Given the description of an element on the screen output the (x, y) to click on. 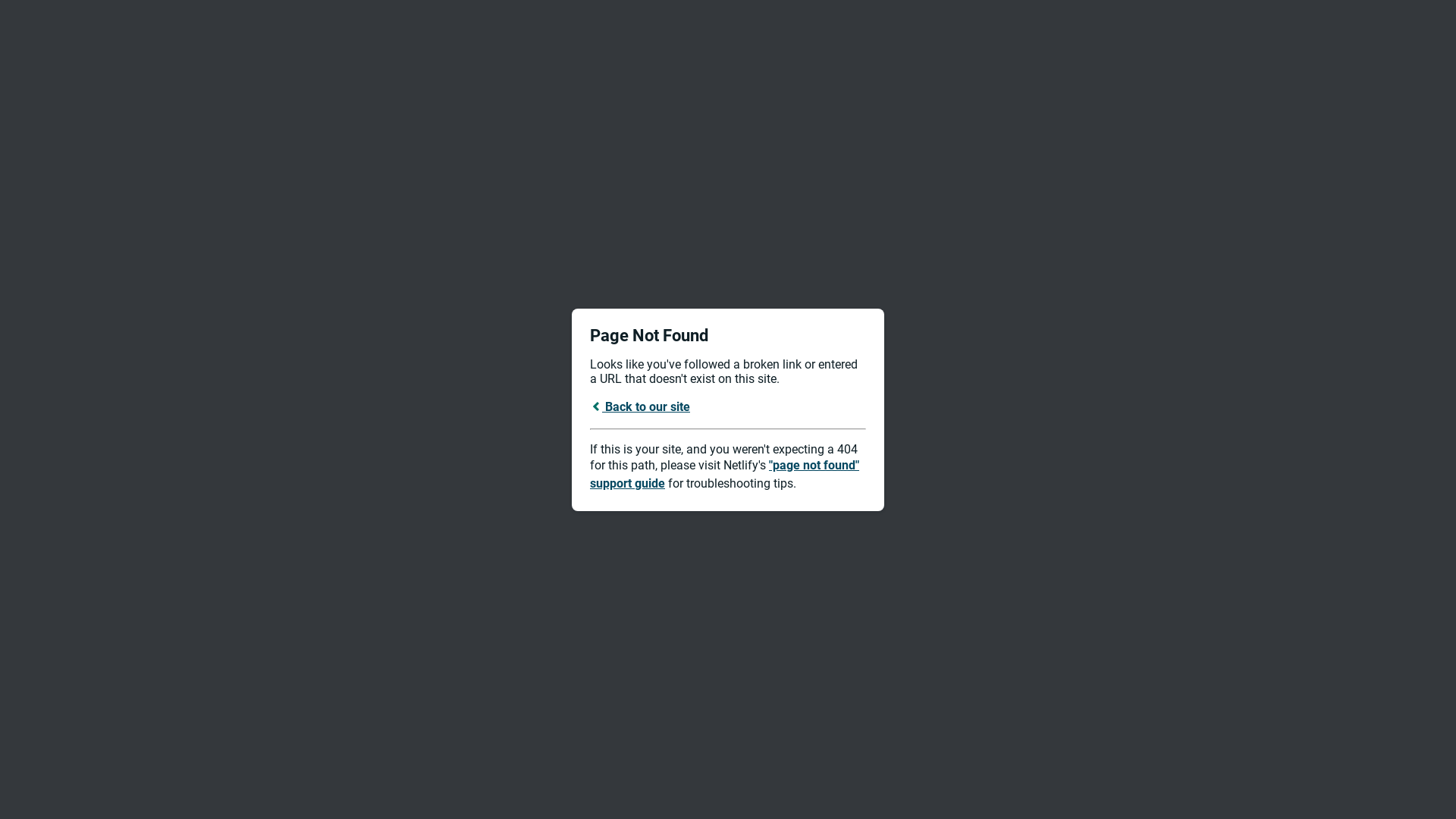
Back to our site Element type: text (639, 405)
"page not found" support guide Element type: text (724, 474)
